Given the description of an element on the screen output the (x, y) to click on. 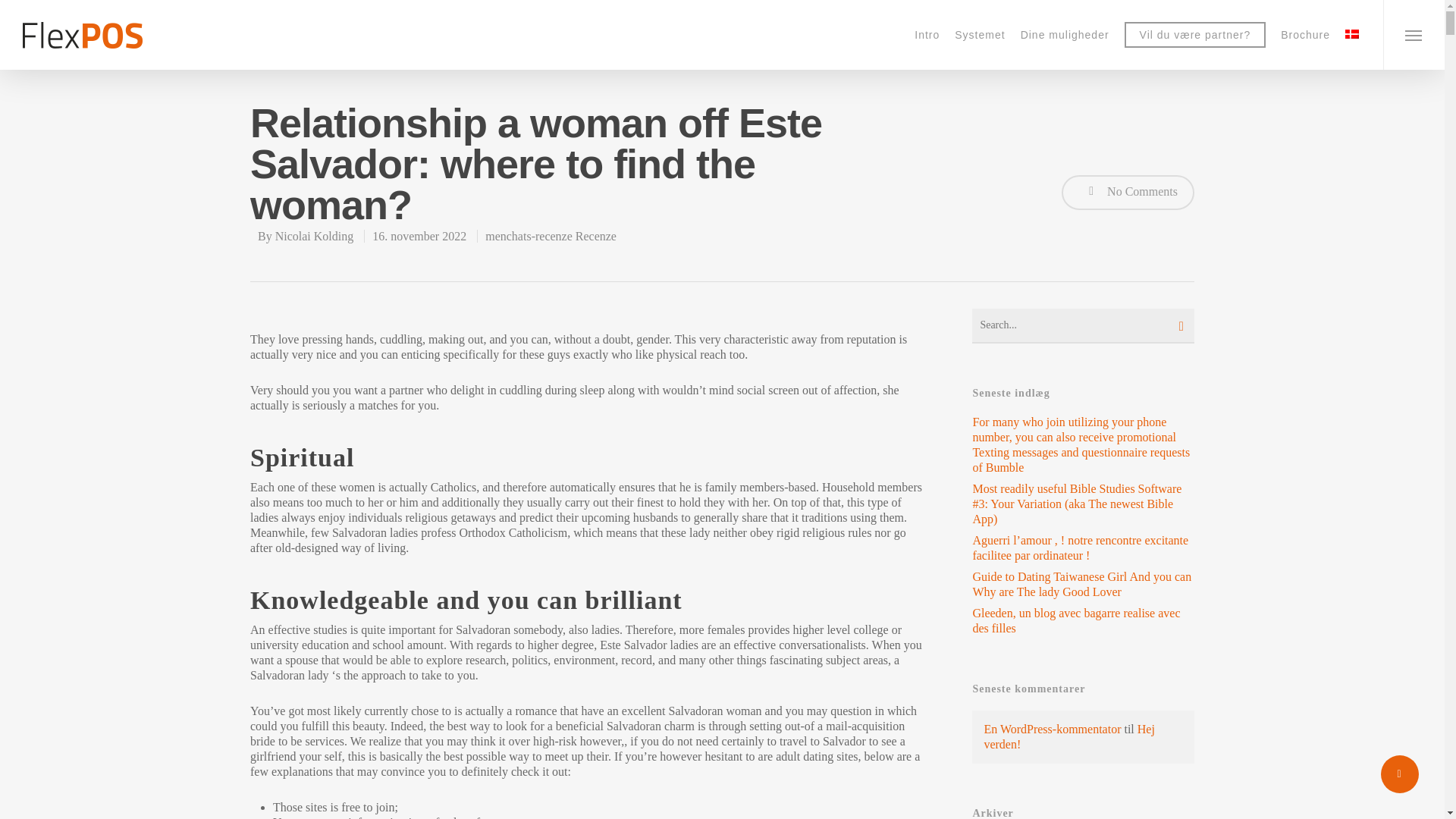
Brochure (1305, 34)
menchats-recenze Recenze (549, 236)
Intro (927, 34)
Dansk (1351, 33)
No Comments (1127, 192)
Nicolai Kolding (314, 236)
Gleeden, un blog avec bagarre realise avec des filles (1082, 621)
Systemet (979, 34)
Dine muligheder (1064, 34)
Search for: (1082, 325)
